Given the description of an element on the screen output the (x, y) to click on. 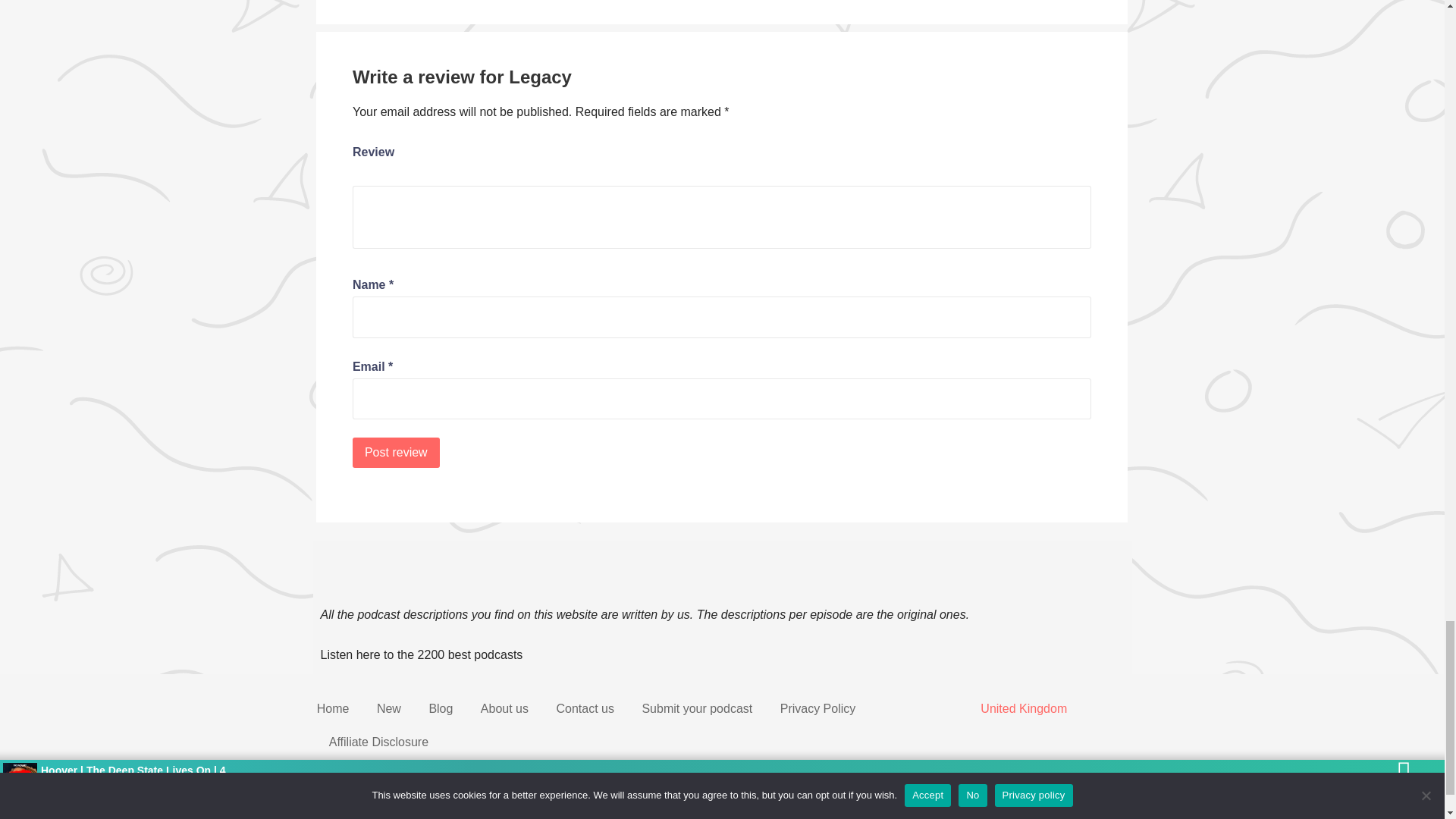
Post review (395, 452)
